Given the description of an element on the screen output the (x, y) to click on. 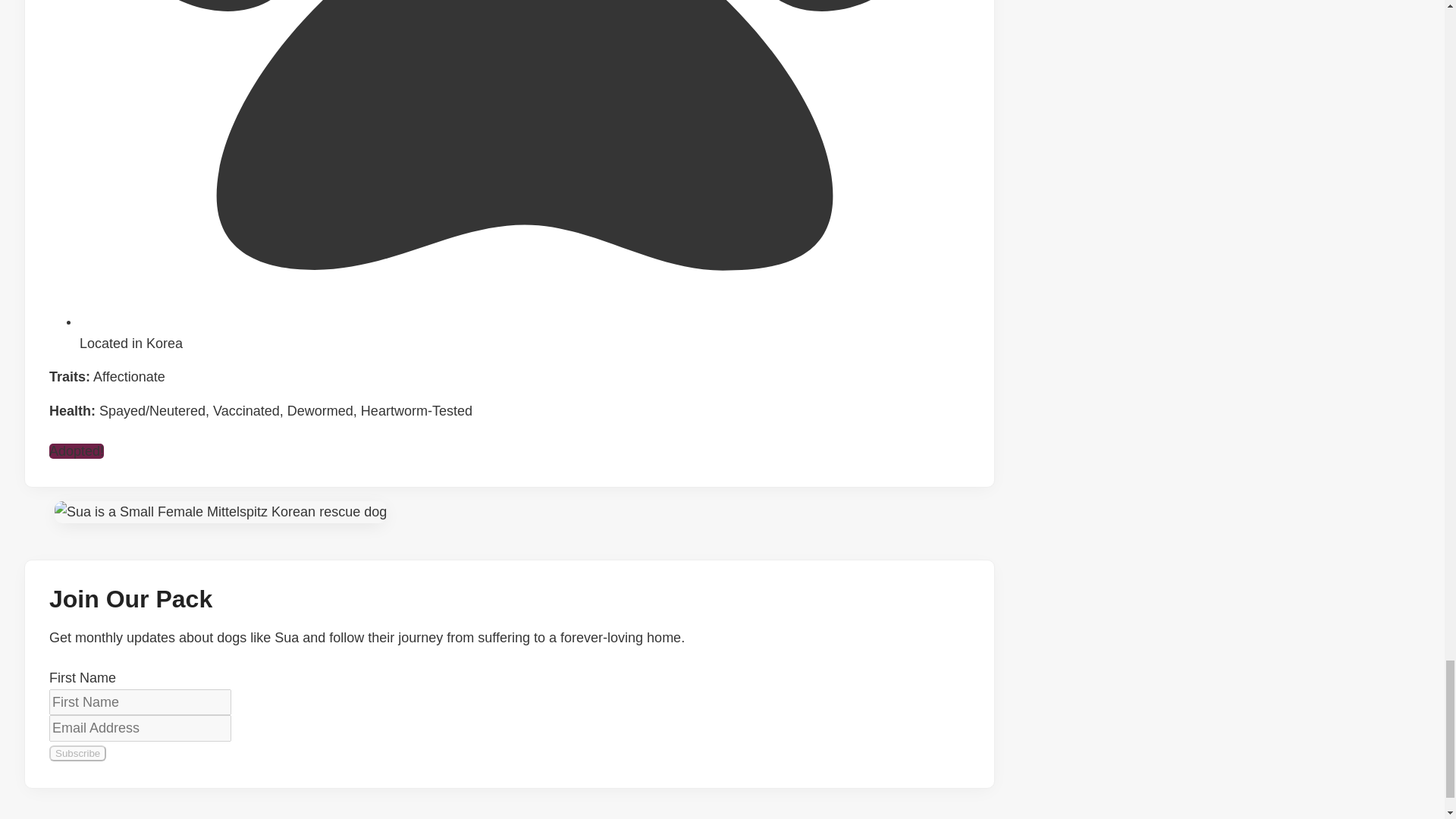
Subscribe (77, 753)
